Given the description of an element on the screen output the (x, y) to click on. 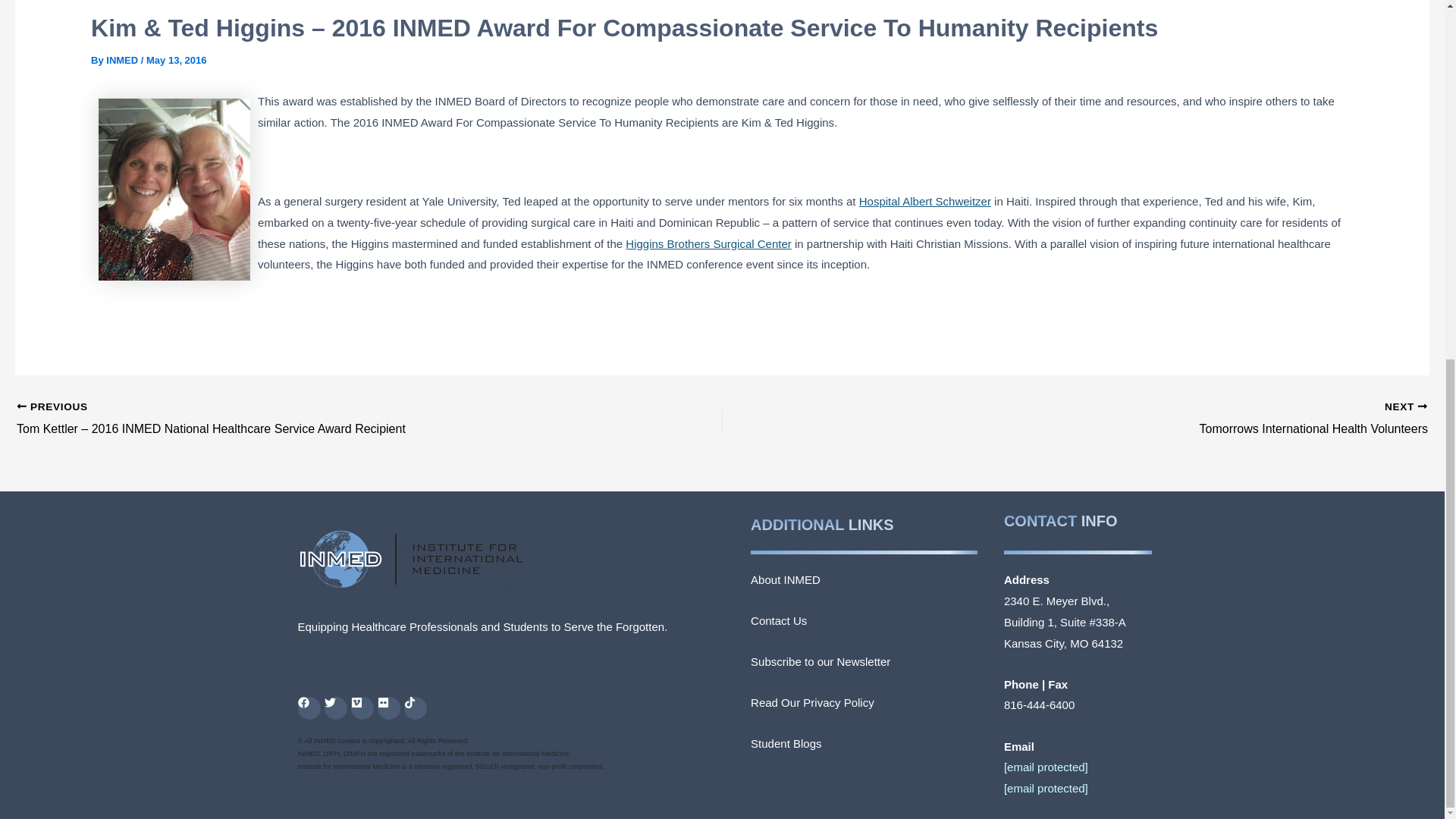
View all posts by INMED (123, 60)
Tomorrows International Health Volunteers (1144, 418)
